Given the description of an element on the screen output the (x, y) to click on. 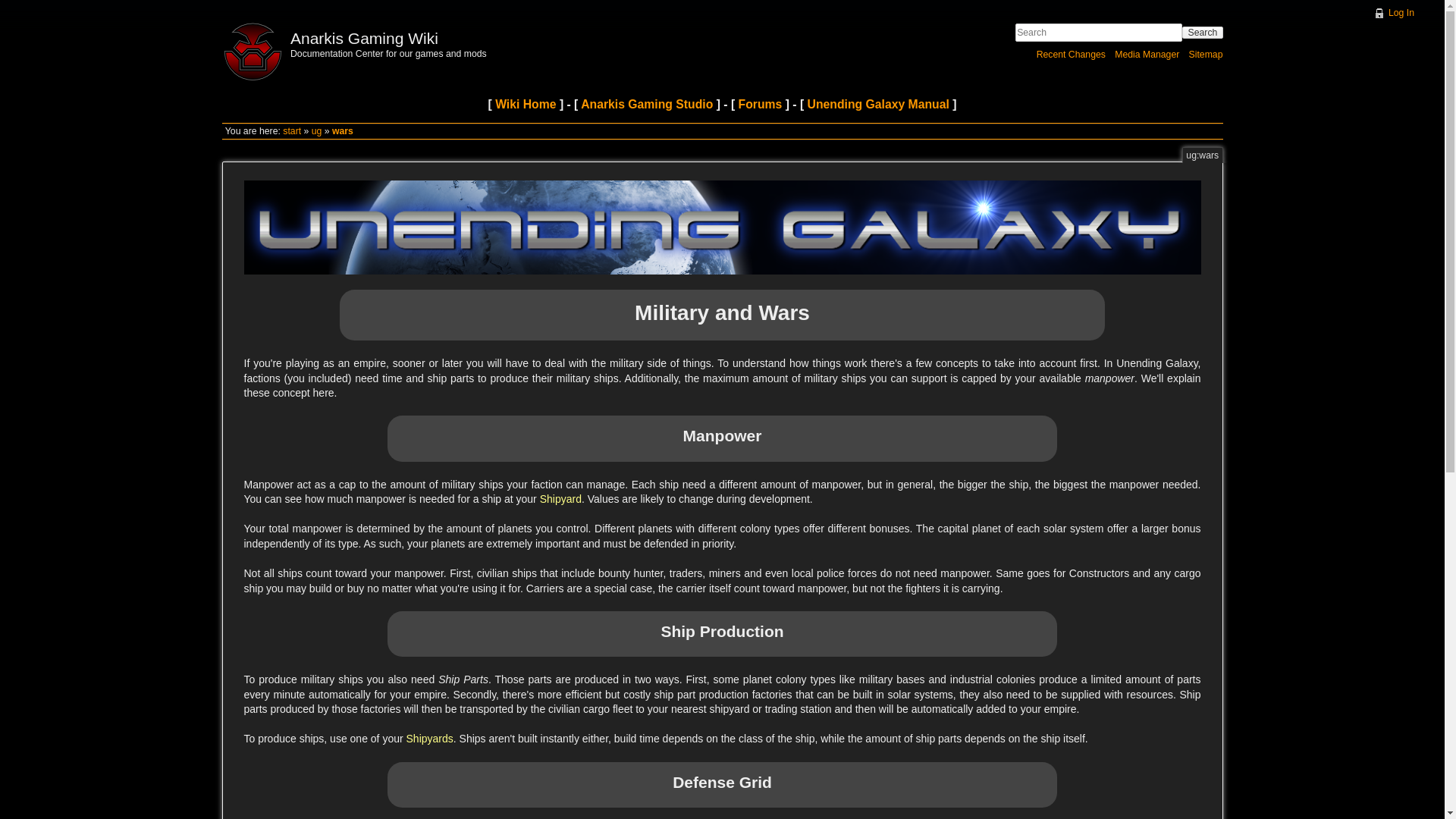
ug:shipyard (560, 499)
start (291, 131)
wars (342, 131)
Show pagesource (1233, 195)
Backlinks (1233, 243)
ug:start (316, 131)
Wiki Home (525, 103)
ug:shipyard (429, 738)
Forums (760, 103)
Anarkis Gaming Studio (646, 103)
Media Manager (1147, 54)
Log In (1393, 12)
ug:start (722, 227)
Recent Changes (1070, 54)
Unending Galaxy Manual (878, 103)
